Given the description of an element on the screen output the (x, y) to click on. 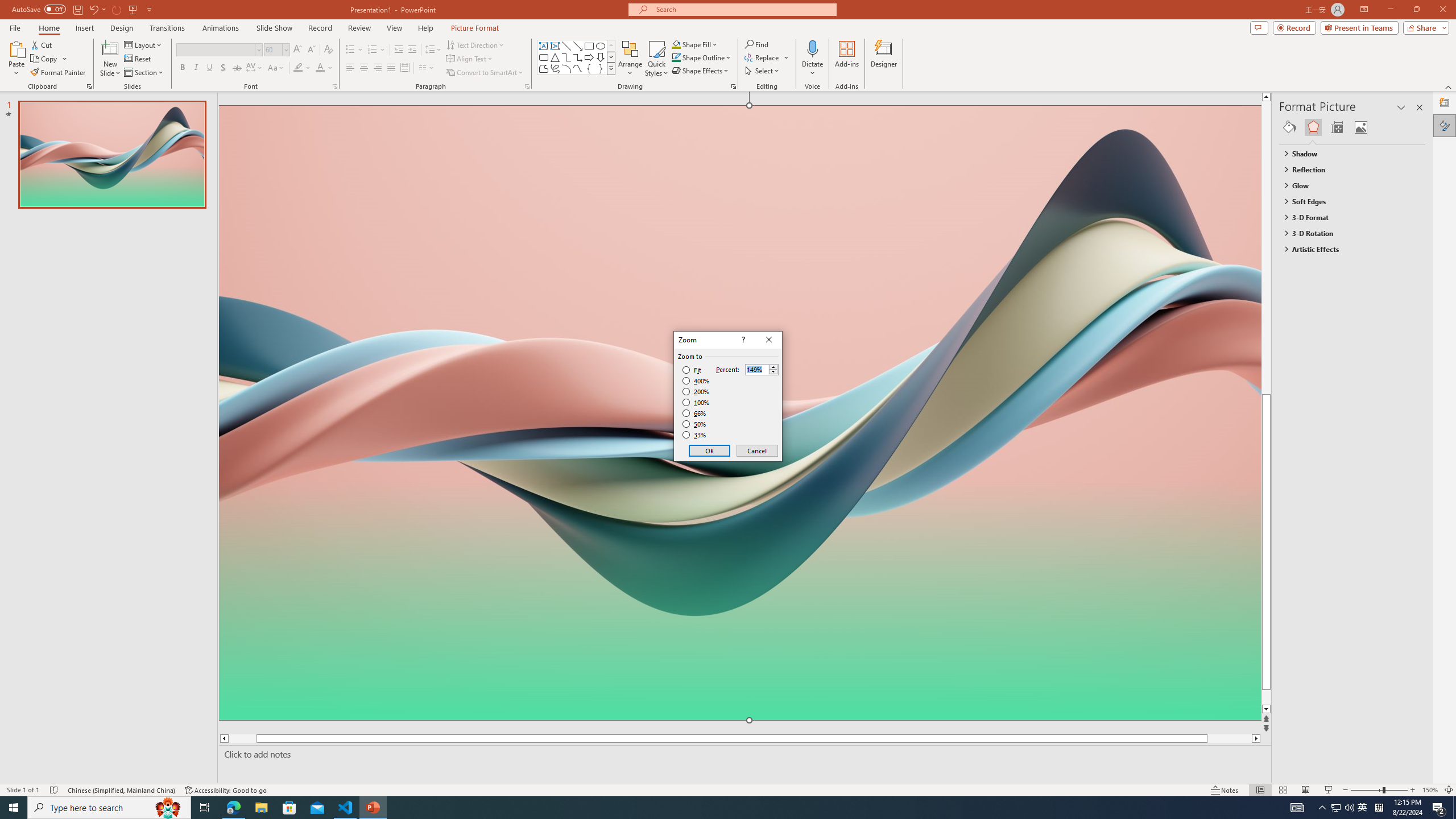
66% (694, 412)
Cancel (756, 450)
